Given the description of an element on the screen output the (x, y) to click on. 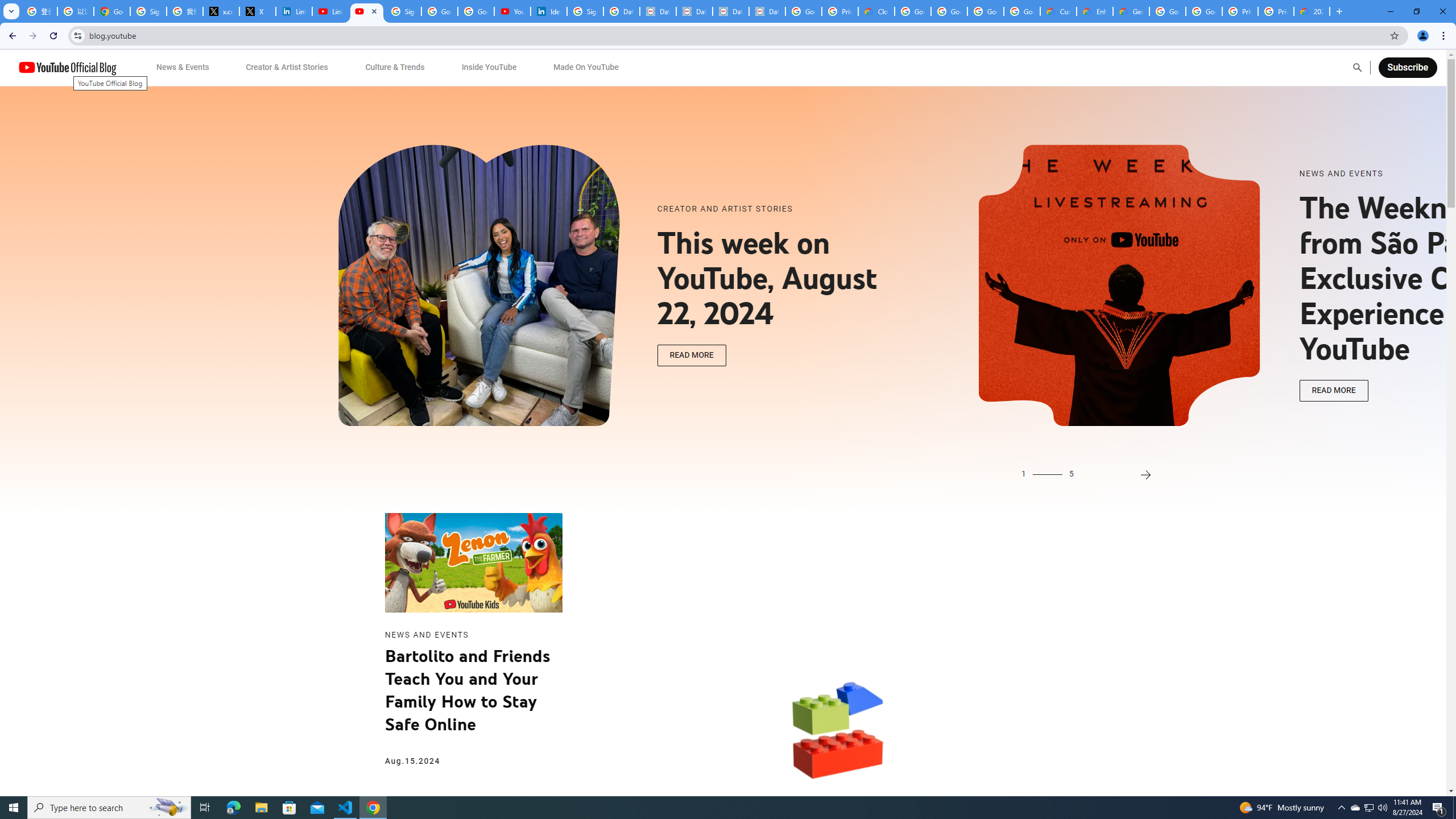
Sign in - Google Accounts (403, 11)
Gemini for Business and Developers | Google Cloud (1131, 11)
CREATOR AND ARTIST STORIES (780, 208)
Data Privacy Framework (767, 11)
YouTube Official Blog logo (67, 67)
